Given the description of an element on the screen output the (x, y) to click on. 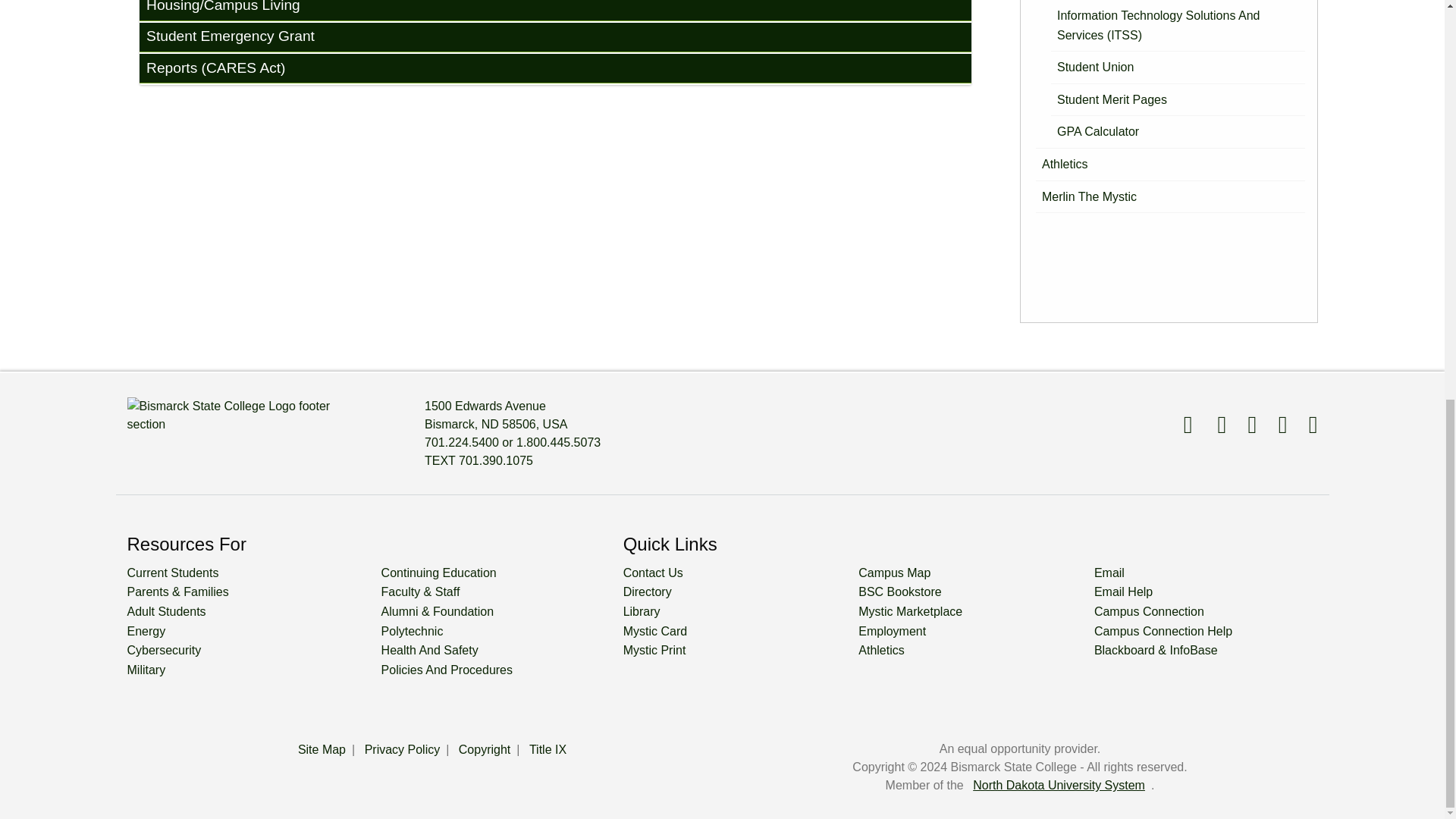
Visit Merit (1303, 424)
YouTube (1243, 424)
Vimeo (1273, 424)
